Given the description of an element on the screen output the (x, y) to click on. 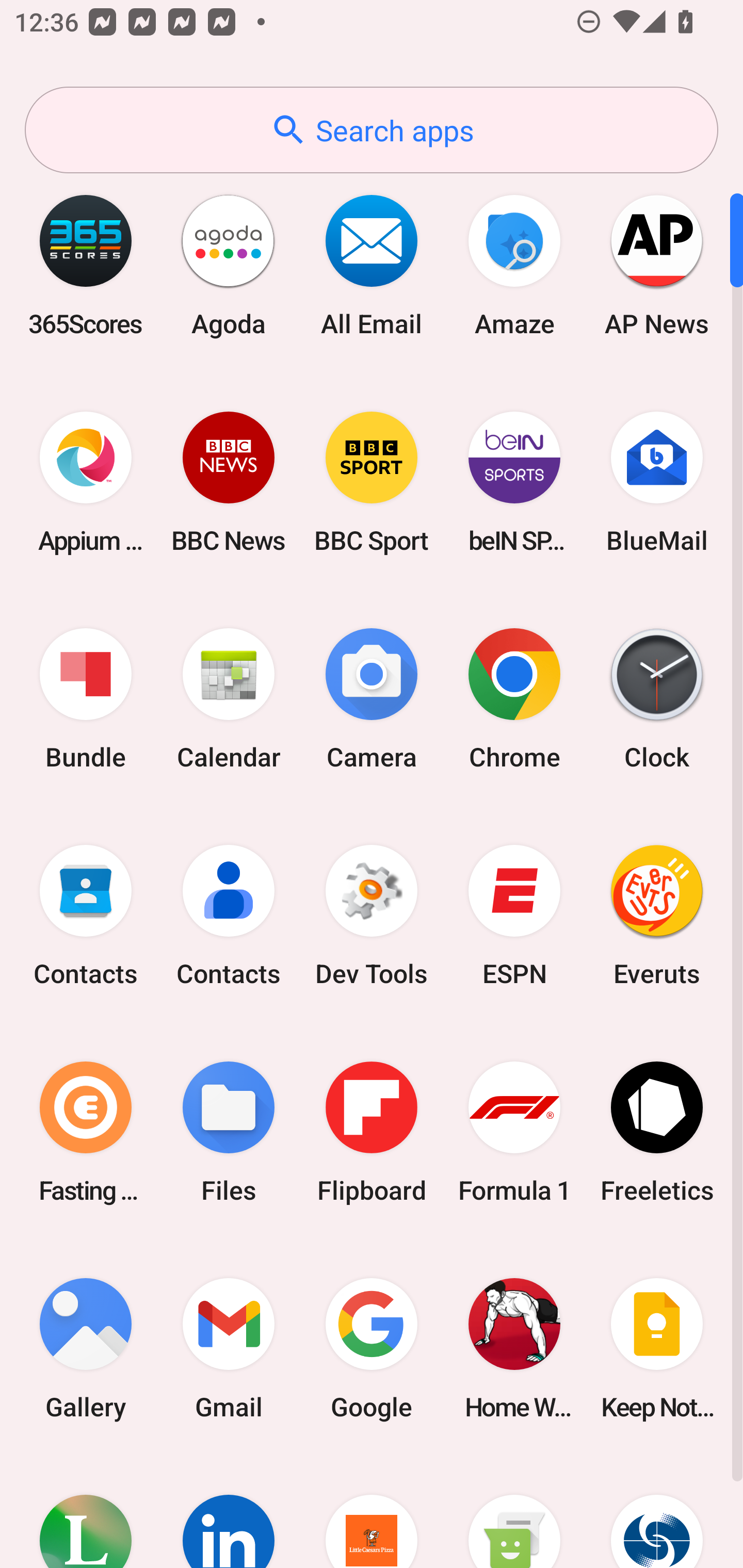
  Search apps (371, 130)
365Scores (85, 264)
Agoda (228, 264)
All Email (371, 264)
Amaze (514, 264)
AP News (656, 264)
Appium Settings (85, 482)
BBC News (228, 482)
BBC Sport (371, 482)
beIN SPORTS (514, 482)
BlueMail (656, 482)
Bundle (85, 699)
Calendar (228, 699)
Camera (371, 699)
Chrome (514, 699)
Clock (656, 699)
Contacts (85, 915)
Contacts (228, 915)
Dev Tools (371, 915)
ESPN (514, 915)
Everuts (656, 915)
Fasting Coach (85, 1131)
Files (228, 1131)
Flipboard (371, 1131)
Formula 1 (514, 1131)
Freeletics (656, 1131)
Gallery (85, 1348)
Gmail (228, 1348)
Google (371, 1348)
Home Workout (514, 1348)
Keep Notes (656, 1348)
